Given the description of an element on the screen output the (x, y) to click on. 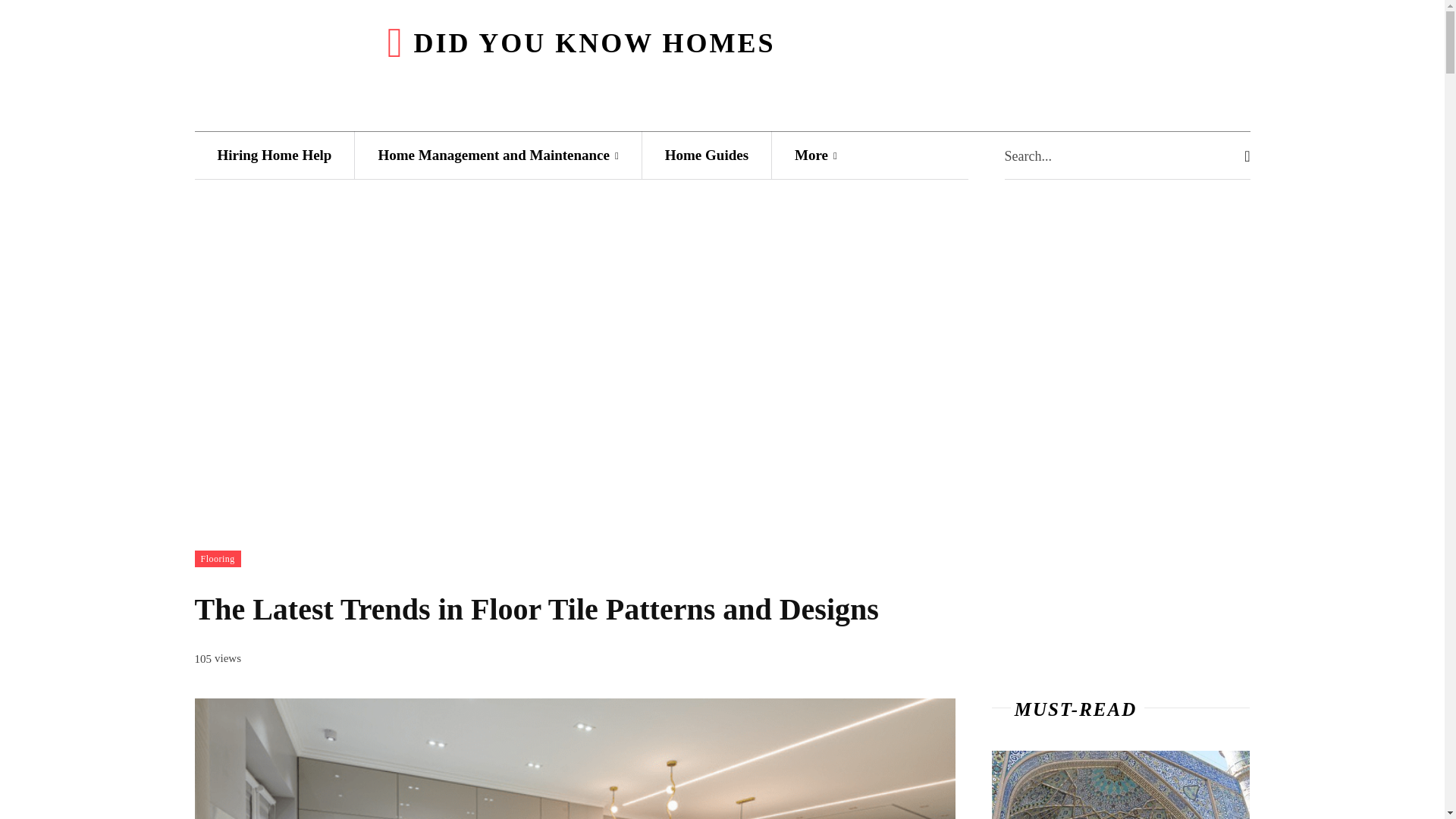
The Latest Trends in Floor Tile Patterns and Designs (574, 758)
